Given the description of an element on the screen output the (x, y) to click on. 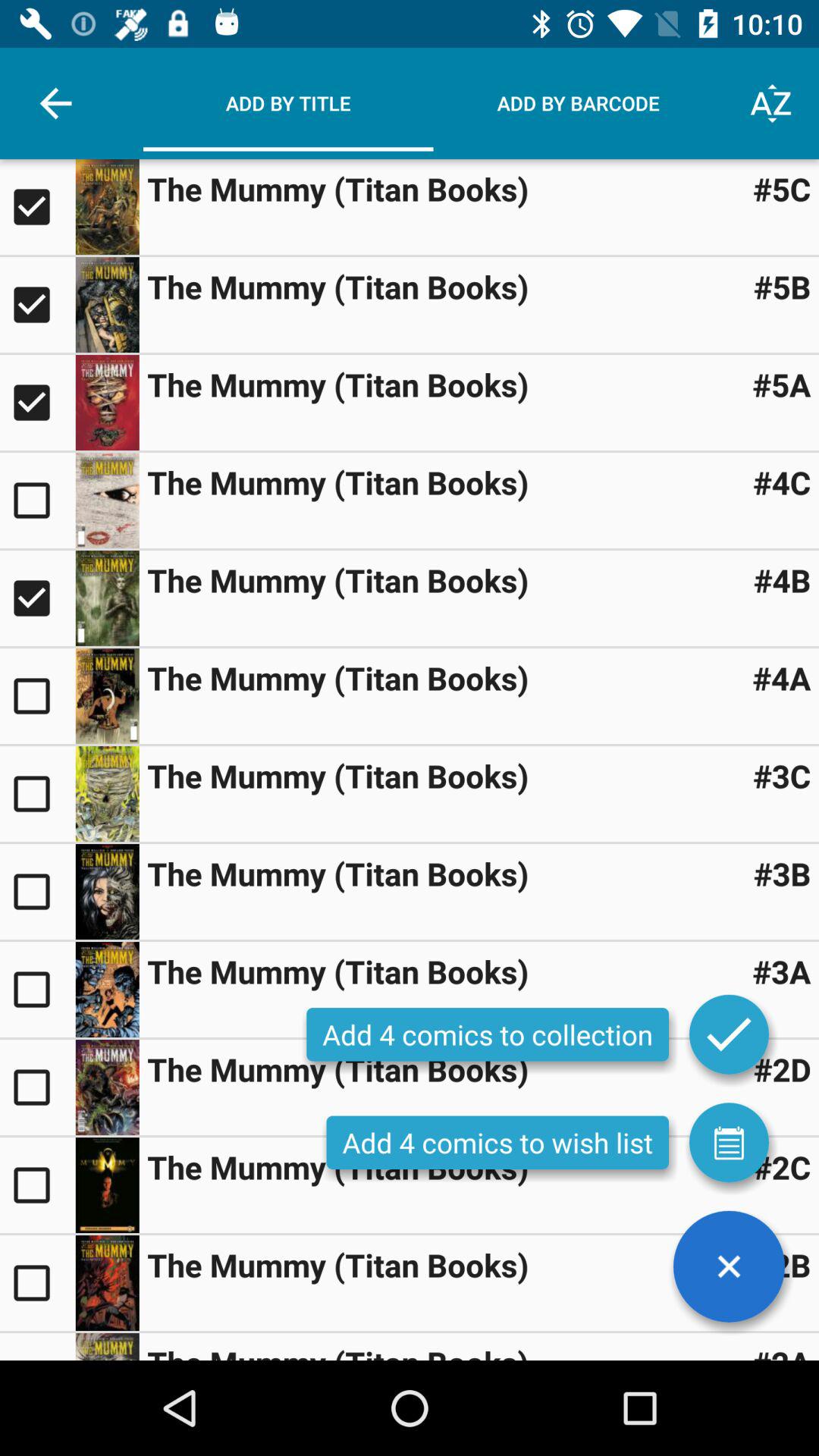
zoom in on image (107, 1185)
